Given the description of an element on the screen output the (x, y) to click on. 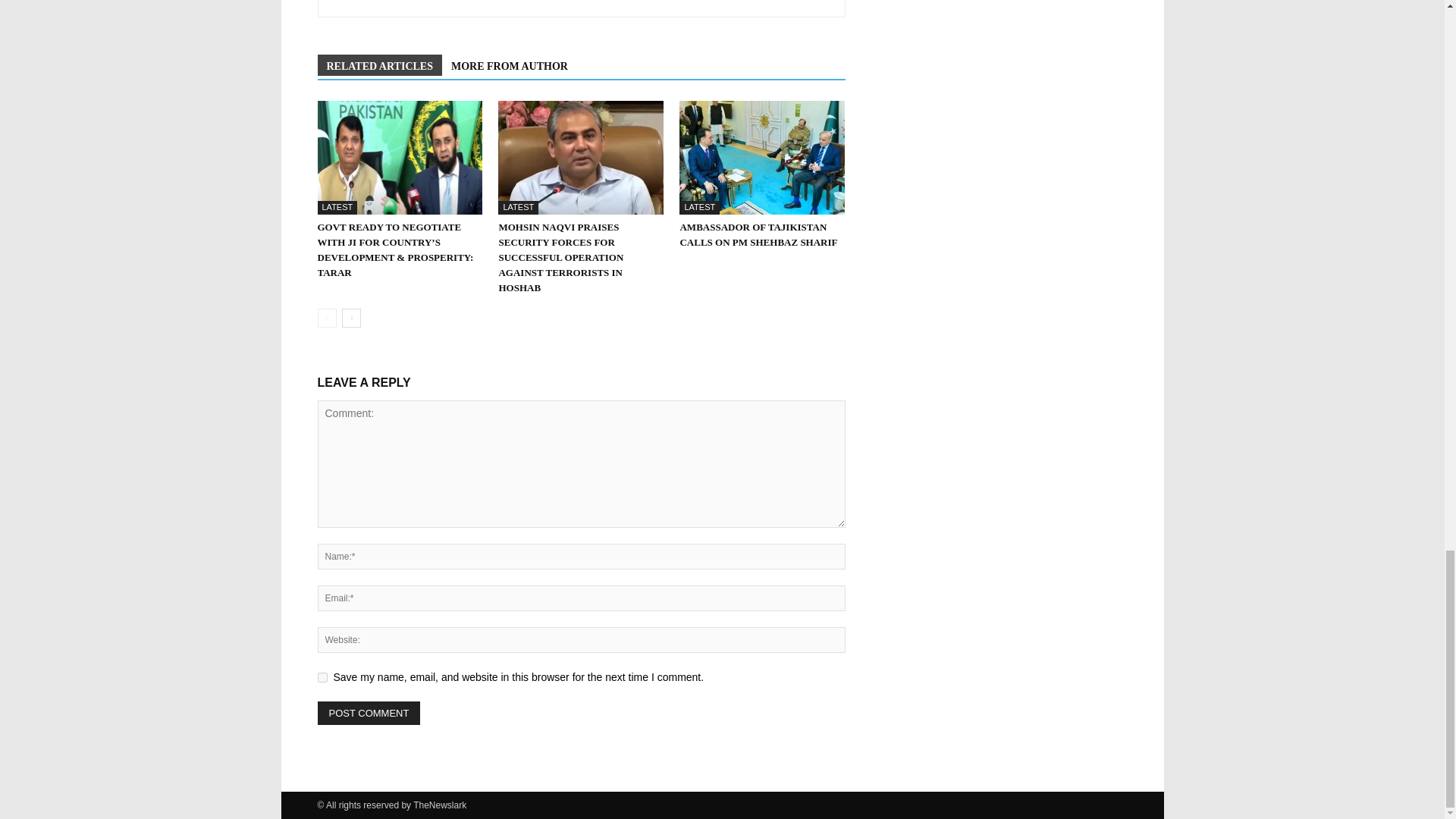
yes (321, 677)
Post Comment (368, 712)
